Given the description of an element on the screen output the (x, y) to click on. 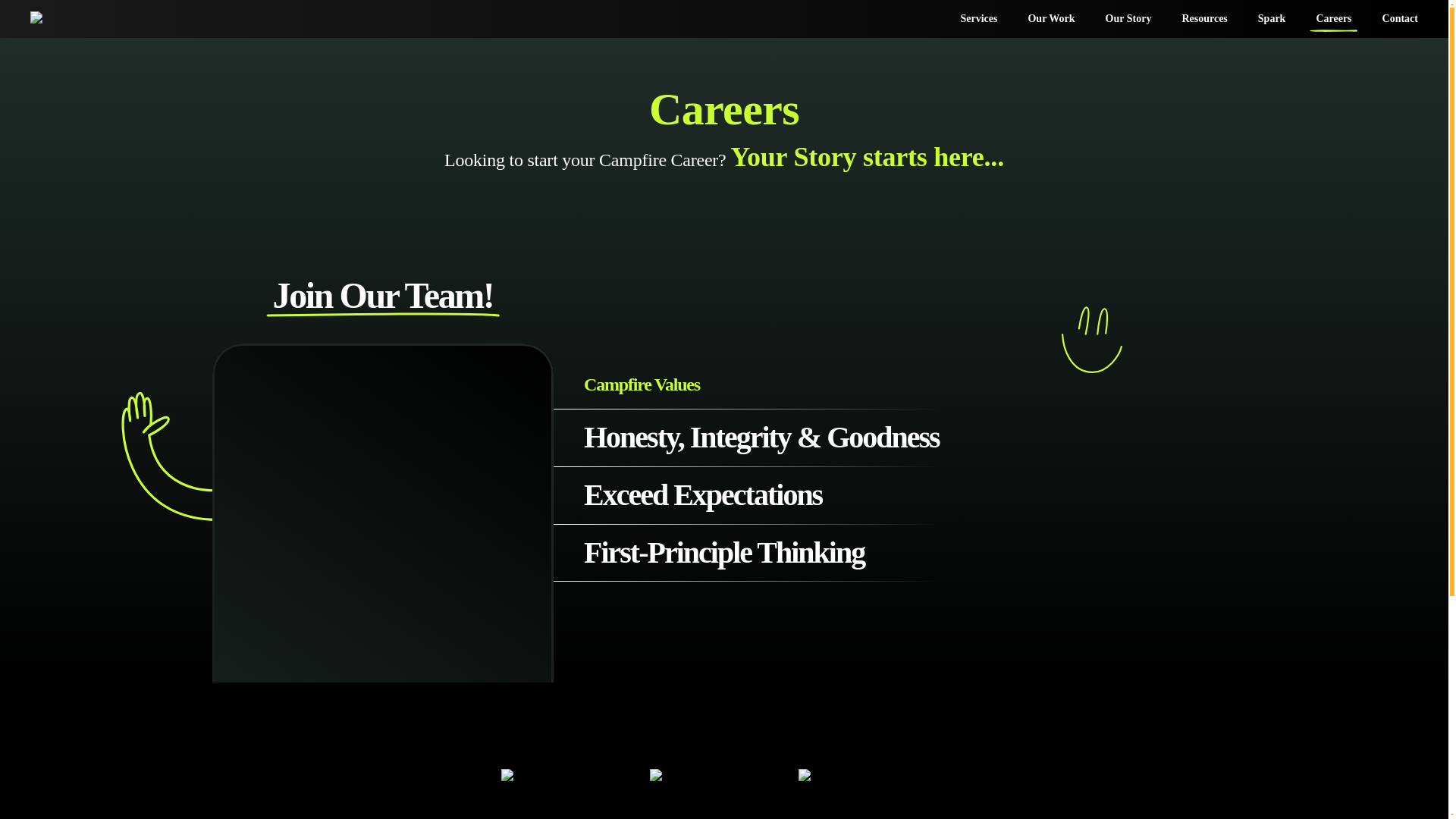
Contact (1399, 18)
Resources (1204, 18)
Our Work (1050, 18)
Our Story (1128, 18)
Careers (1332, 18)
Services (978, 18)
Spark (1272, 18)
